Given the description of an element on the screen output the (x, y) to click on. 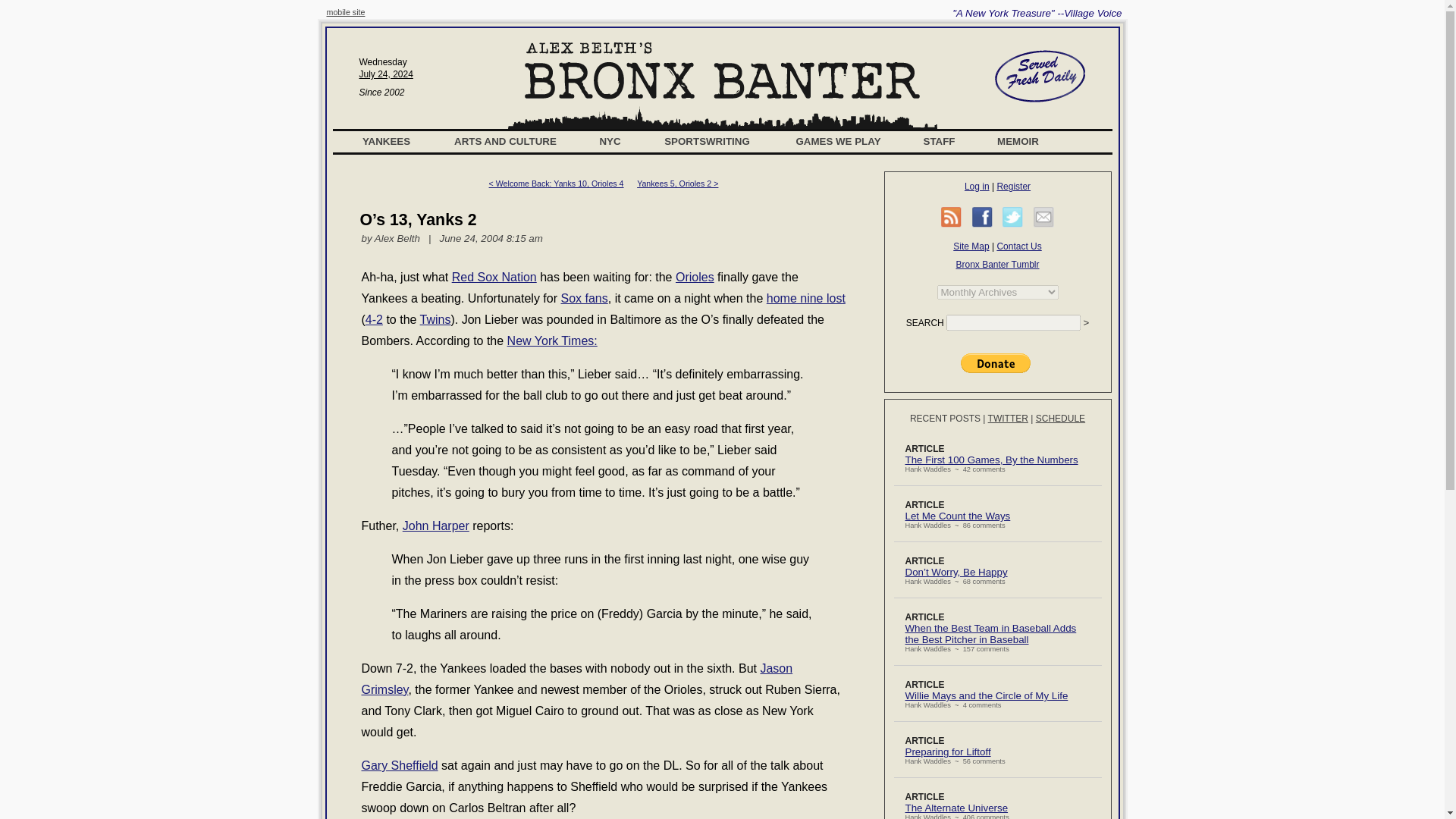
ARTS AND CULTURE (504, 141)
Share on Facebook (982, 217)
NYC (610, 141)
Permanent link to The First 100 Games, By the Numbers (991, 460)
Permanent link to Willie Mays and the Circle of My Life (986, 695)
Permanent link to The Alternate Universe (957, 808)
Permanent link to Let Me Count the Ways (957, 515)
Subscription feed (950, 217)
YANKEES (386, 141)
Share on Twitter (1013, 217)
Permanent link to Preparing for Liftoff (948, 751)
Share via email (1043, 217)
mobile site (345, 11)
